Given the description of an element on the screen output the (x, y) to click on. 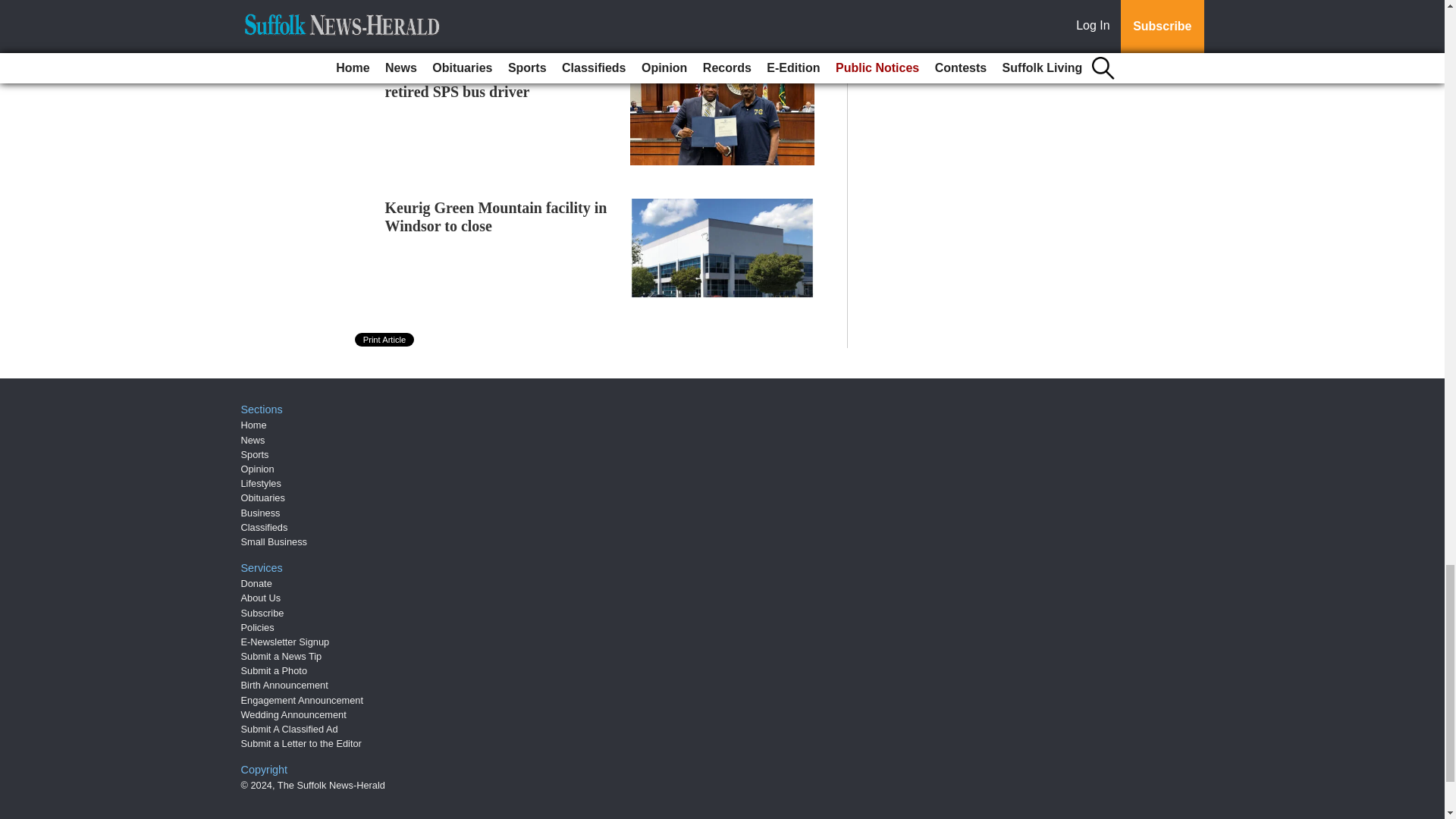
Keurig Green Mountain facility in Windsor to close (496, 216)
Sports (255, 454)
Home (253, 424)
News (252, 439)
Print Article (384, 339)
Gov. Youngkin honors recently retired SPS bus driver (485, 82)
Gov. Youngkin honors recently retired SPS bus driver (485, 82)
Keurig Green Mountain facility in Windsor to close (496, 216)
